Given the description of an element on the screen output the (x, y) to click on. 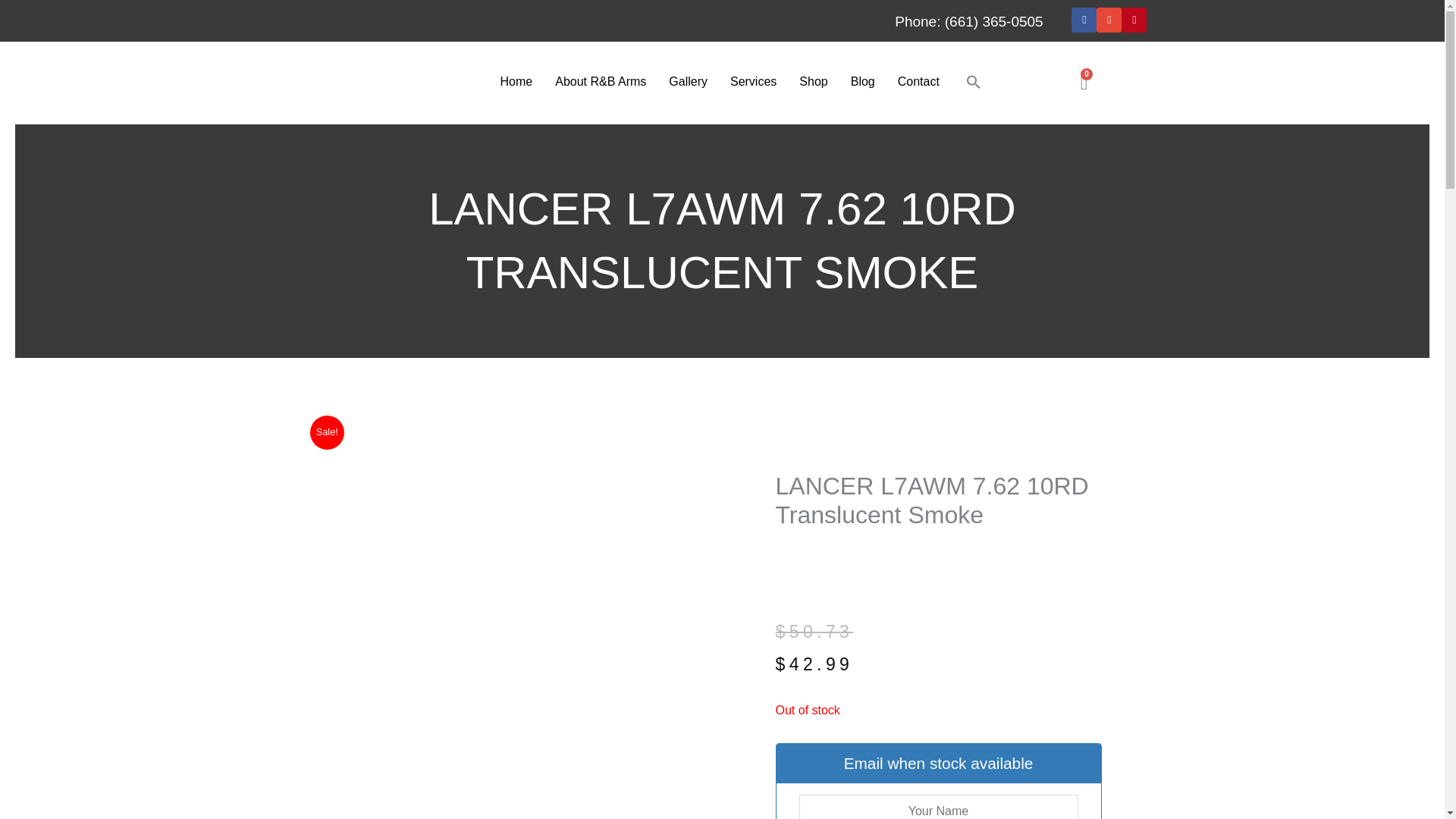
Contact (918, 81)
Home (516, 81)
Services (753, 81)
Blog (863, 81)
Shop (812, 81)
Pinterest (1134, 19)
Gallery (688, 81)
Facebook (1083, 19)
Instagram (1108, 19)
